Given the description of an element on the screen output the (x, y) to click on. 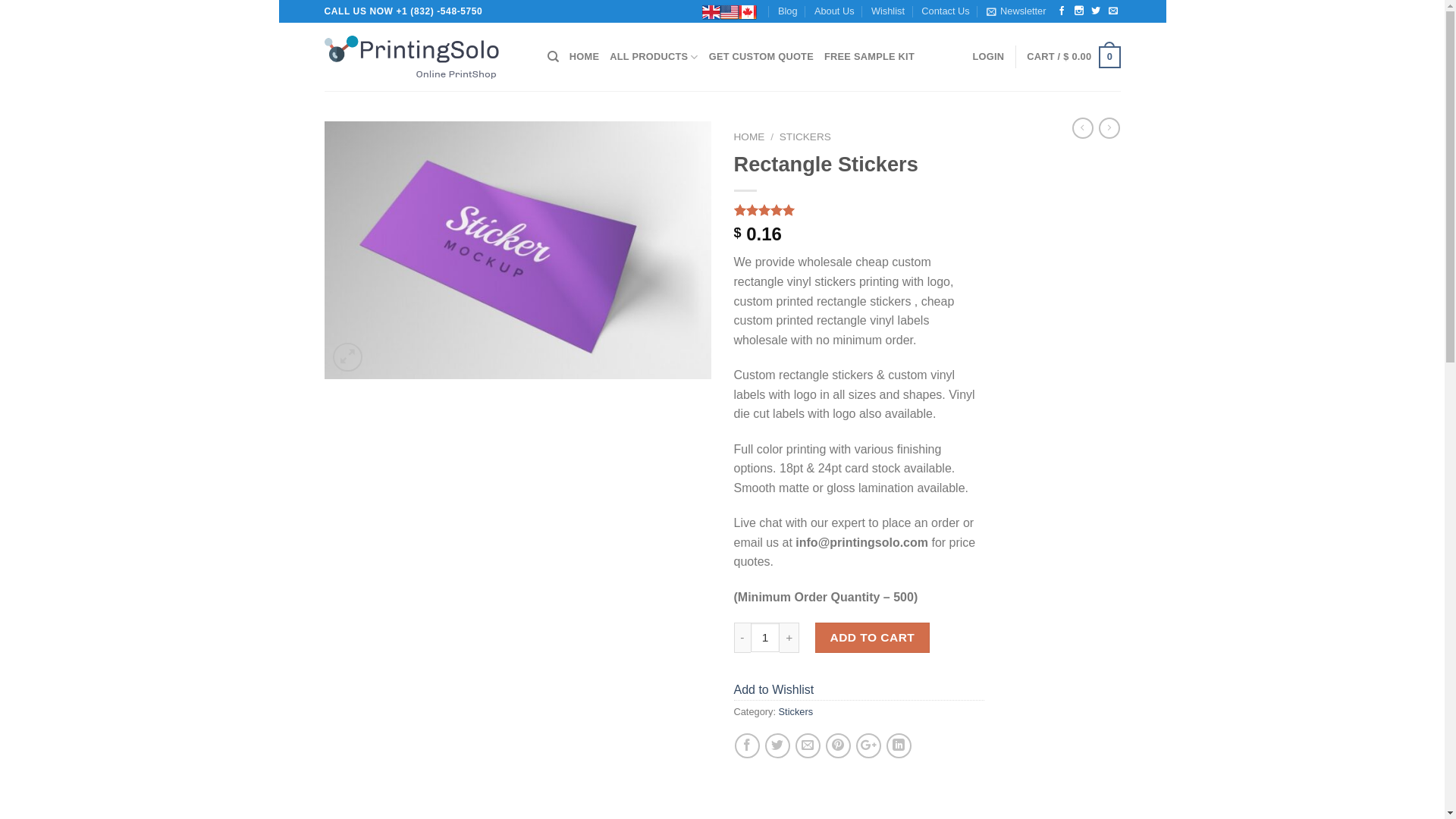
HOME (583, 56)
PrintingSolo -  (424, 57)
rectangle stickers (517, 250)
ALL PRODUCTS (654, 56)
About Us (833, 11)
USA  (729, 12)
Qty (765, 636)
GET CUSTOM QUOTE (761, 56)
1 (765, 636)
Canada  (747, 12)
English  (710, 12)
